Given the description of an element on the screen output the (x, y) to click on. 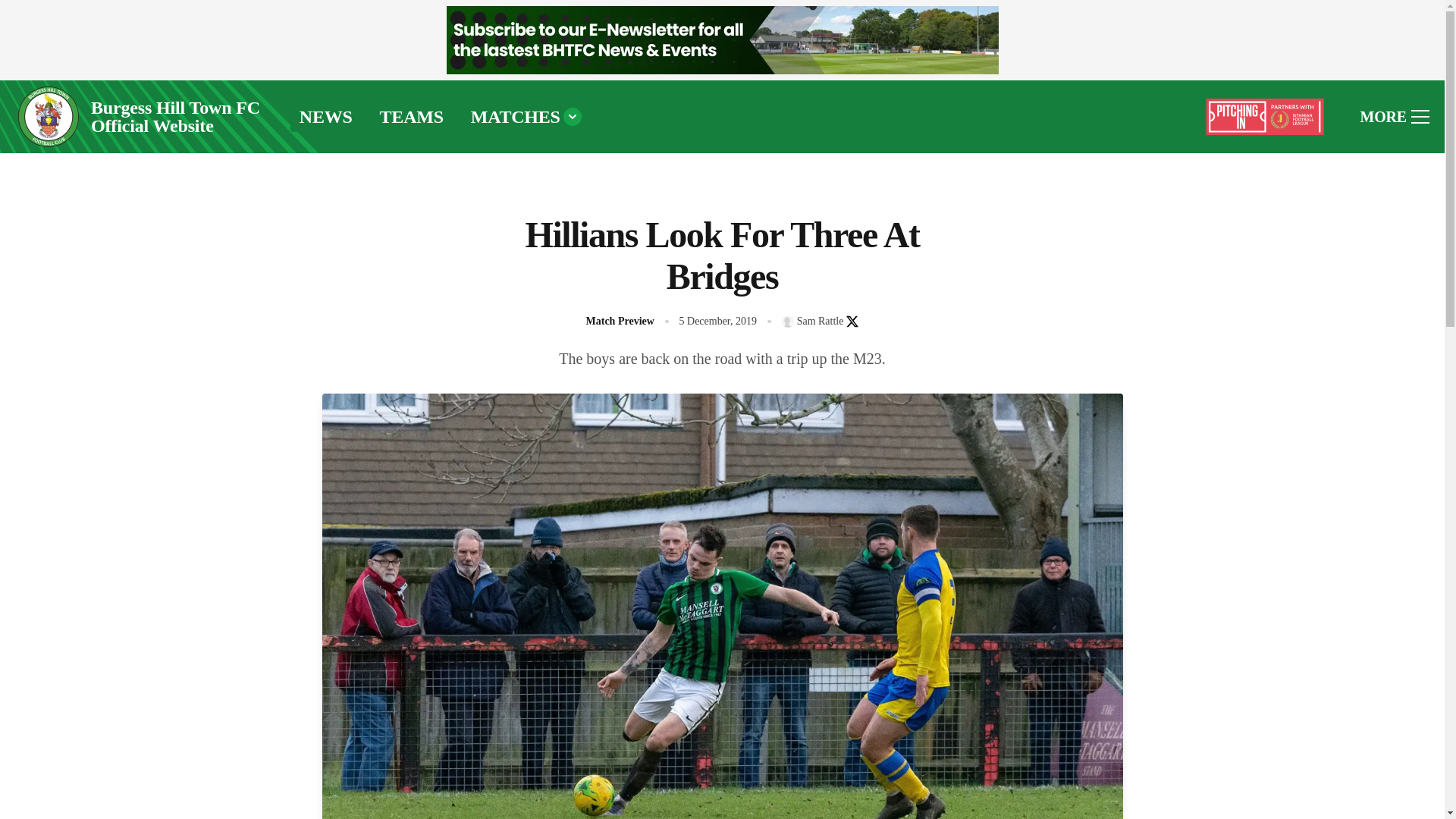
NEWS (325, 116)
TEAMS (411, 116)
MATCHES (526, 116)
